Given the description of an element on the screen output the (x, y) to click on. 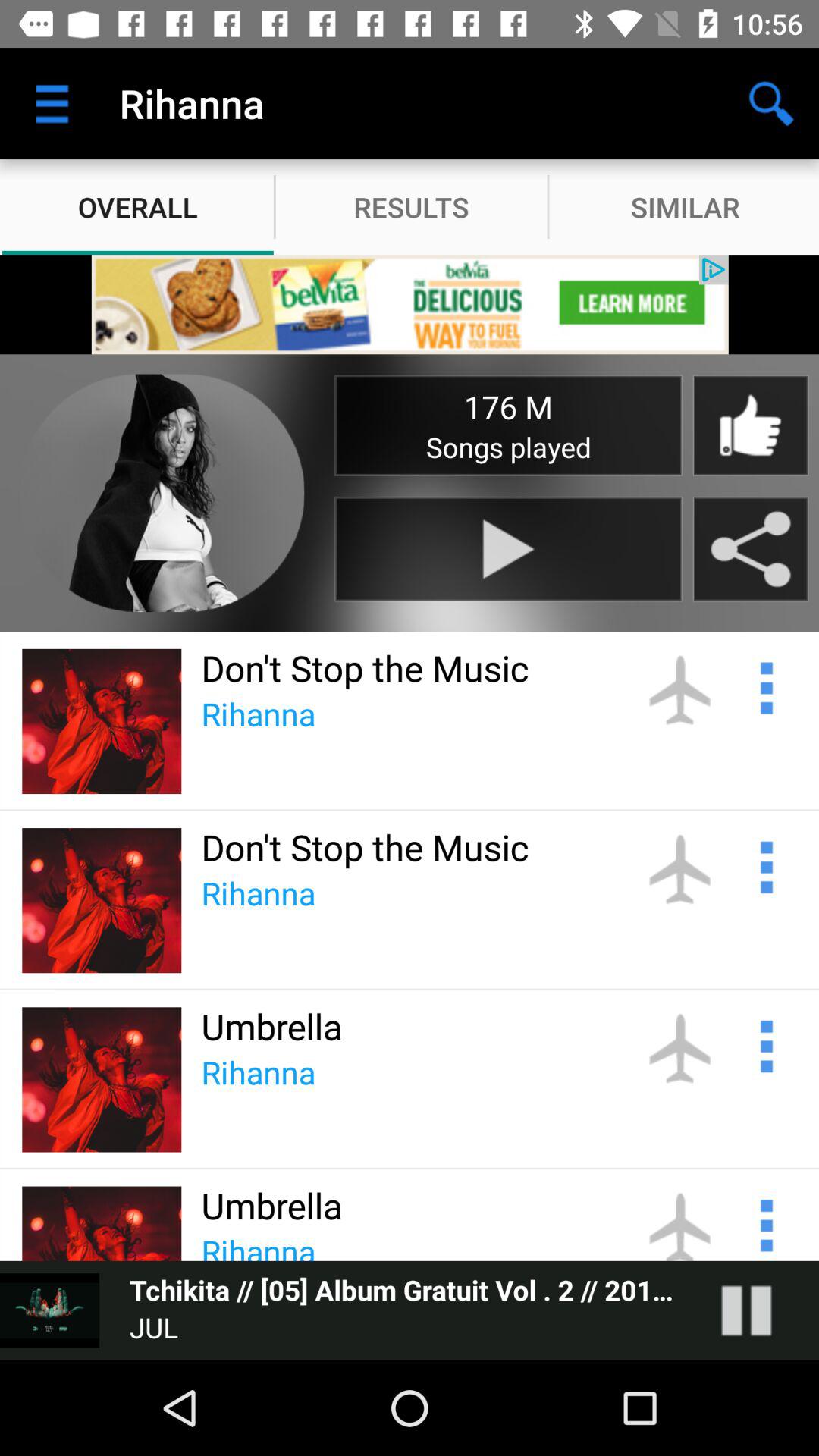
pause music (761, 1310)
